Given the description of an element on the screen output the (x, y) to click on. 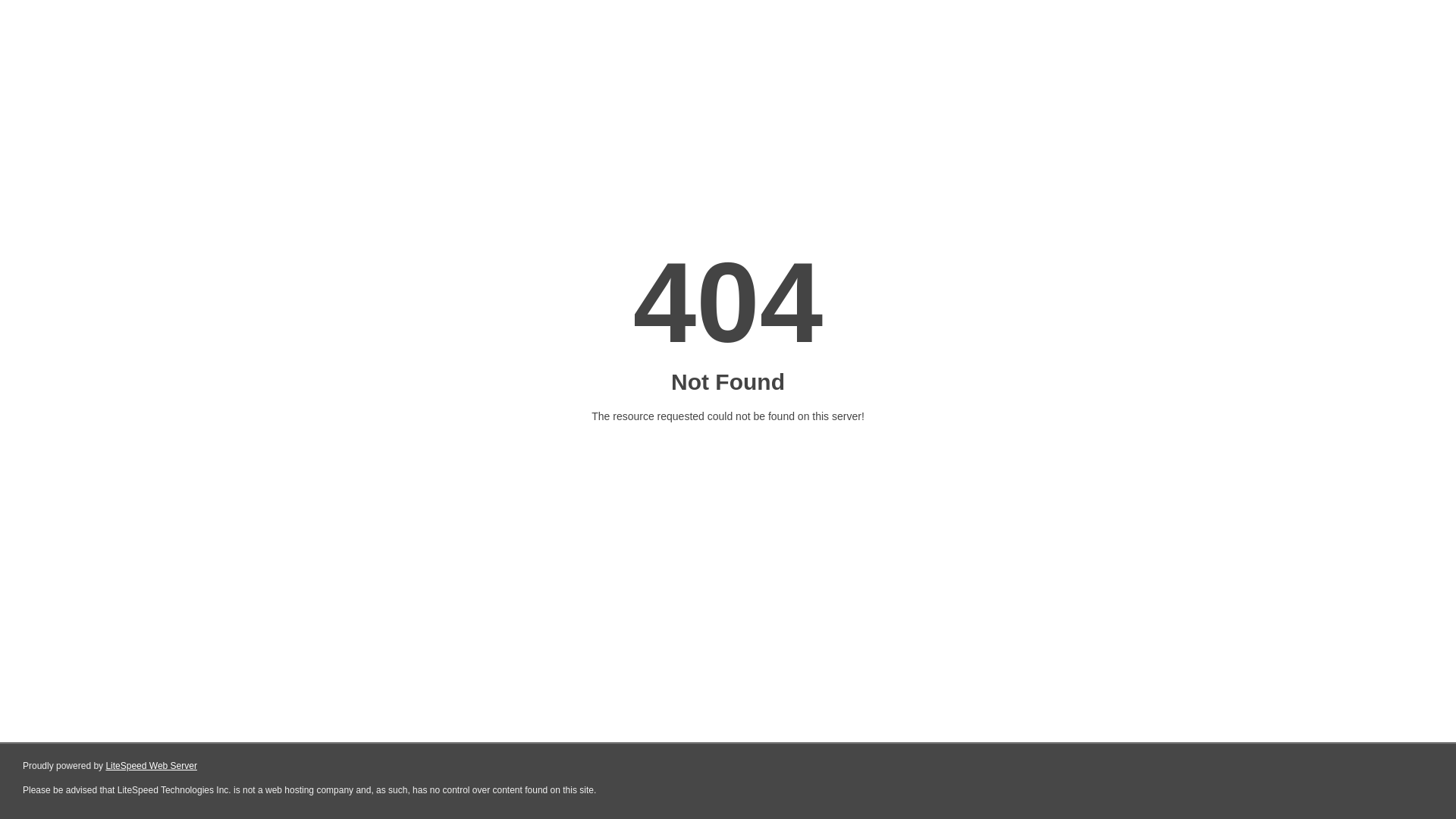
LiteSpeed Web Server Element type: text (151, 765)
